Given the description of an element on the screen output the (x, y) to click on. 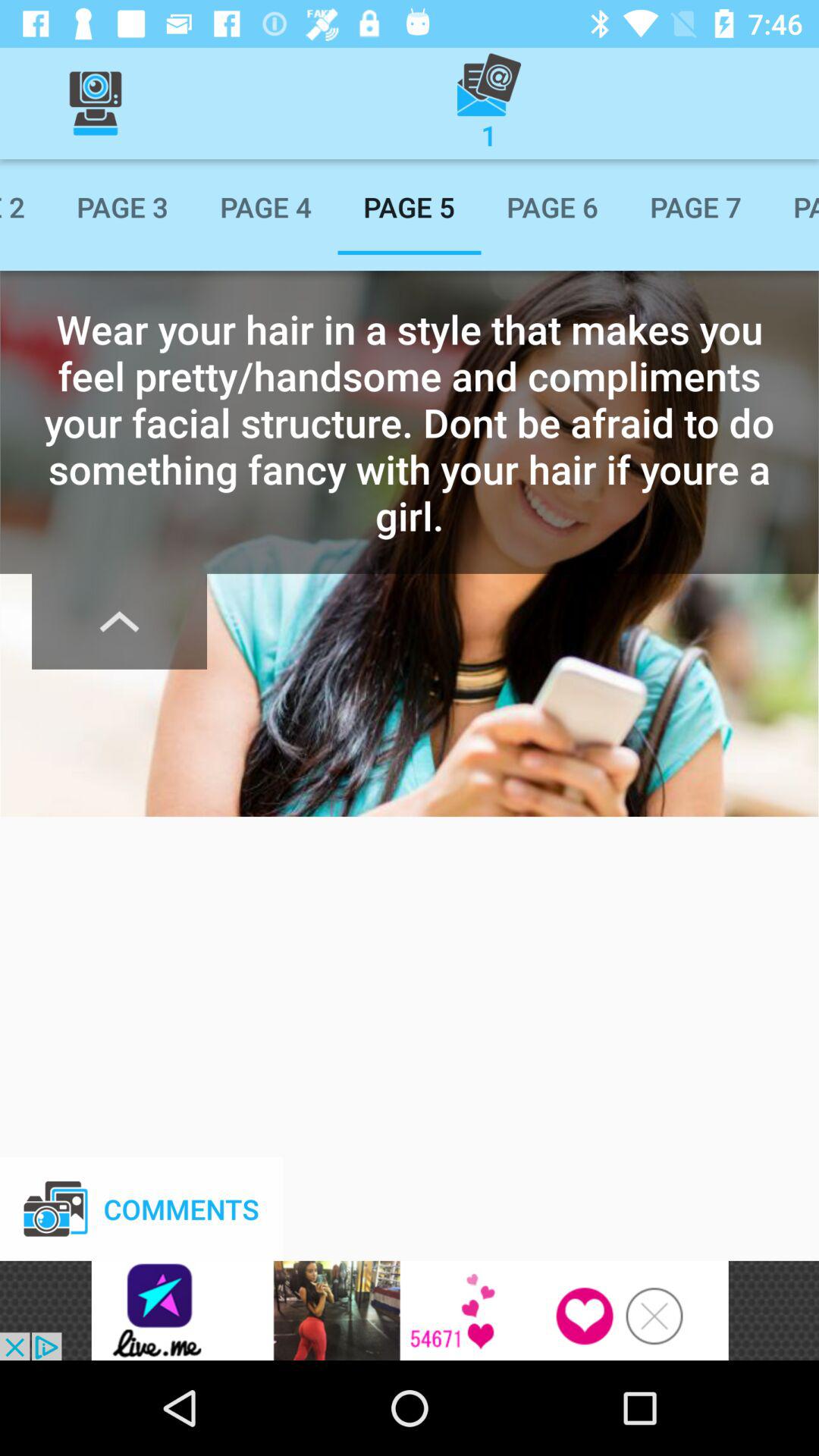
go to next (119, 621)
